Given the description of an element on the screen output the (x, y) to click on. 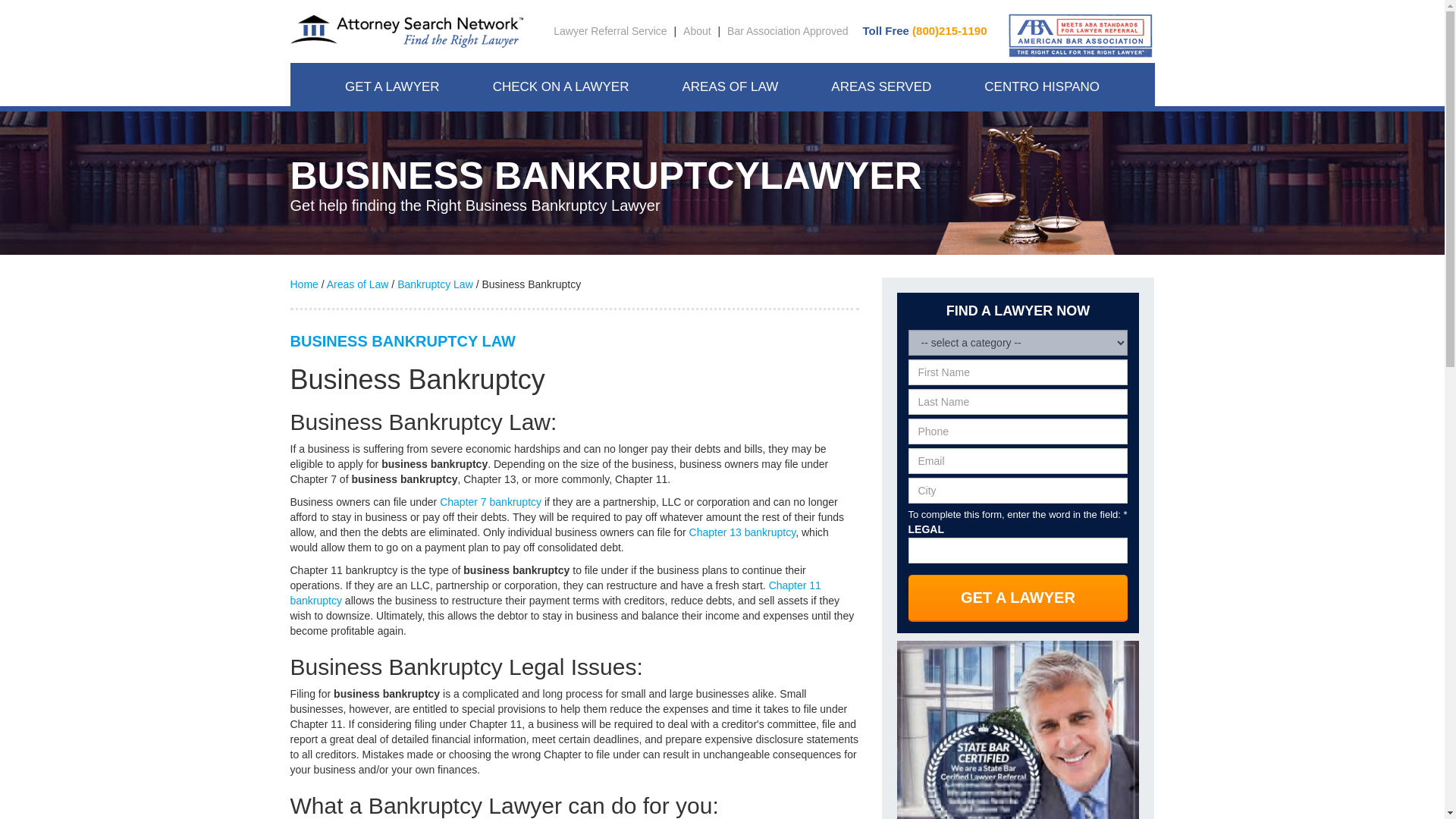
Bar Association Approved (787, 30)
GET A LAWYER (391, 86)
AREAS SERVED (881, 86)
CHECK ON A LAWYER (560, 86)
About (696, 30)
Lawyer Referral Service (609, 30)
Alameda County Lawyers (889, 121)
AREAS OF LAW (730, 86)
